Given the description of an element on the screen output the (x, y) to click on. 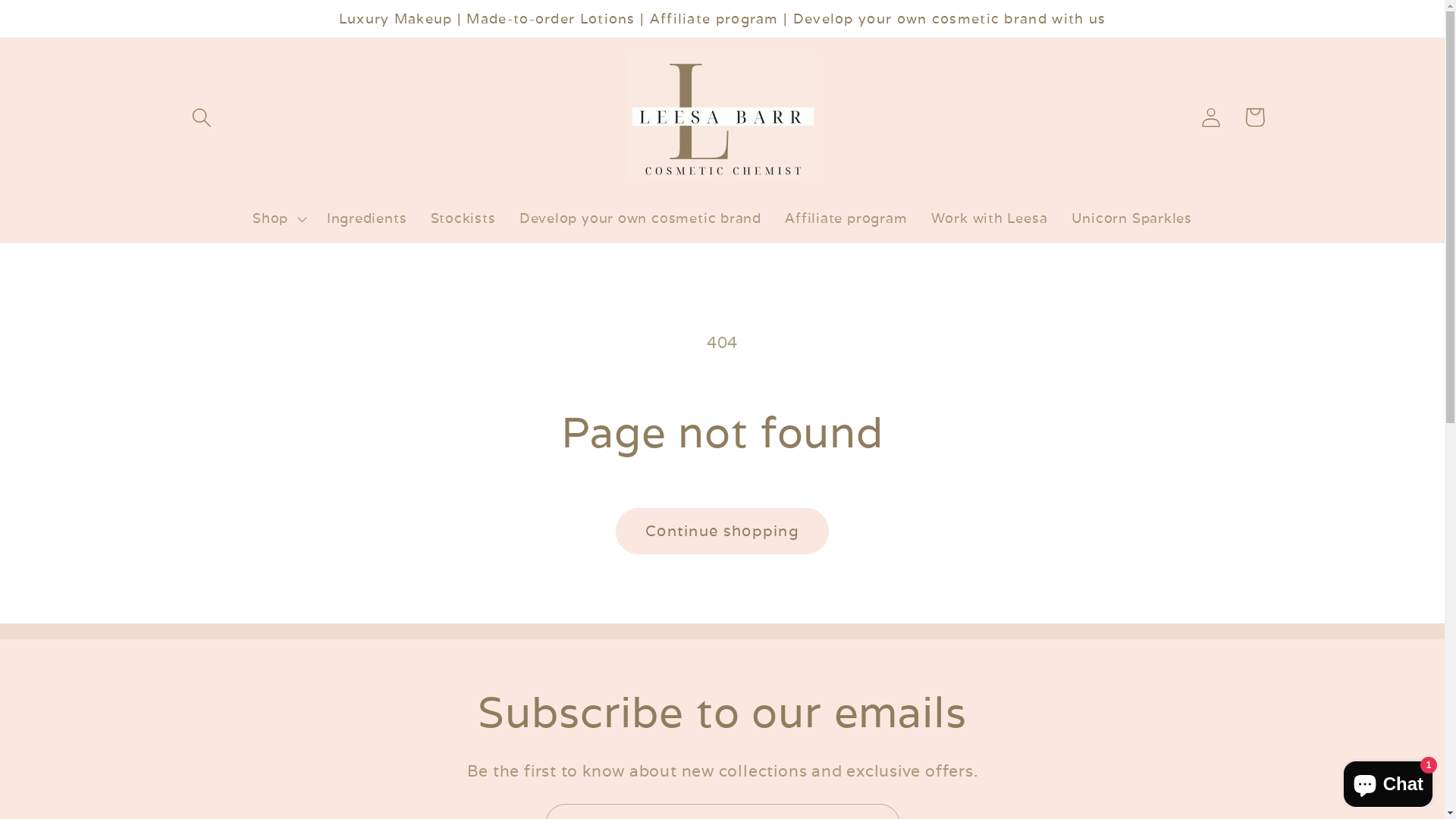
Shopify online store chat Element type: hover (1388, 780)
Cart Element type: text (1254, 116)
Work with Leesa Element type: text (989, 217)
Stockists Element type: text (462, 217)
Affiliate program Element type: text (846, 217)
Unicorn Sparkles Element type: text (1131, 217)
Develop your own cosmetic brand Element type: text (639, 217)
Continue shopping Element type: text (721, 531)
Ingredients Element type: text (366, 217)
Log in Element type: text (1211, 116)
